Given the description of an element on the screen output the (x, y) to click on. 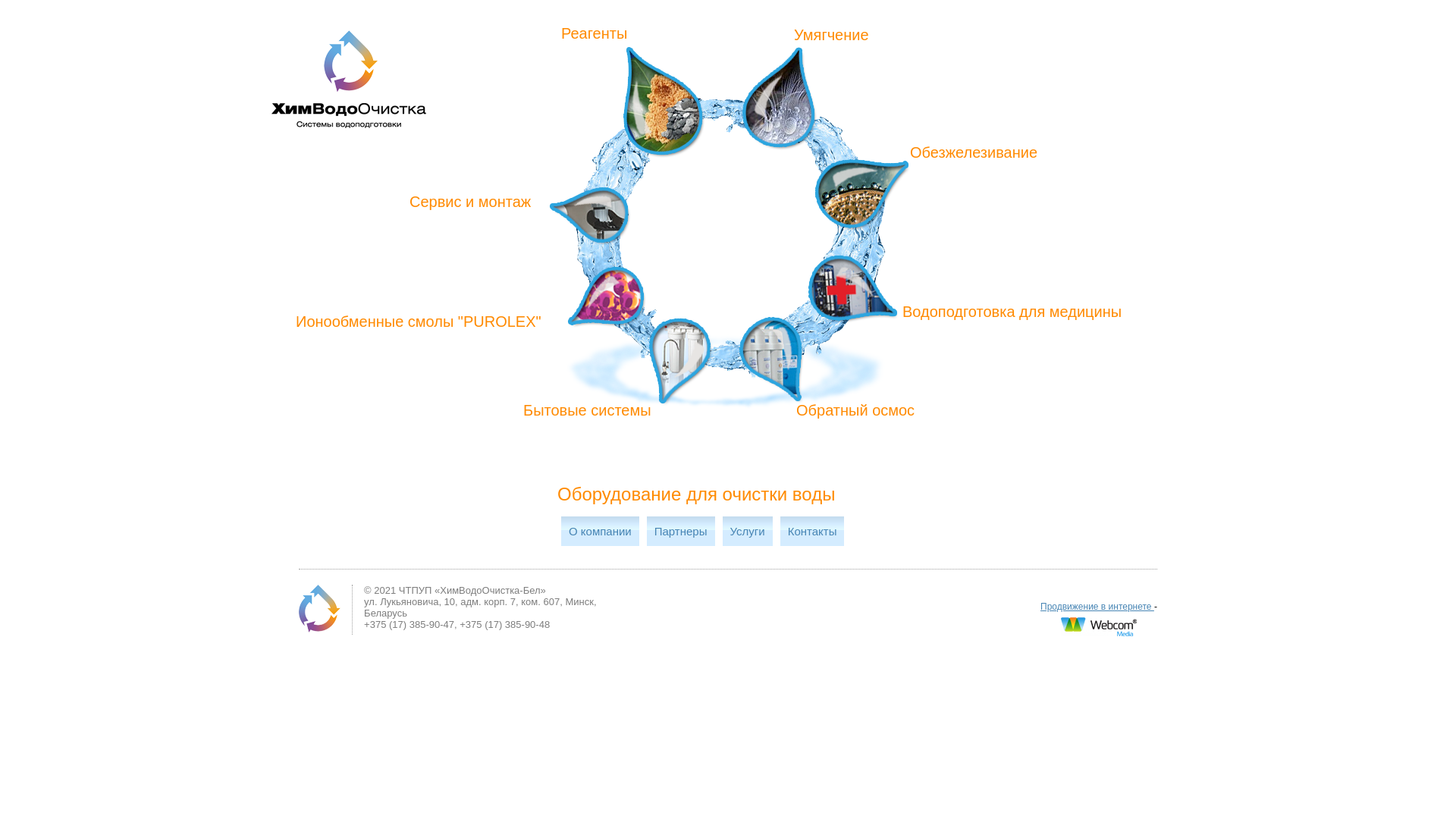
+375 (17) 385-90-48 Element type: text (504, 624)
+375 (17) 385-90-47 Element type: text (409, 624)
